Given the description of an element on the screen output the (x, y) to click on. 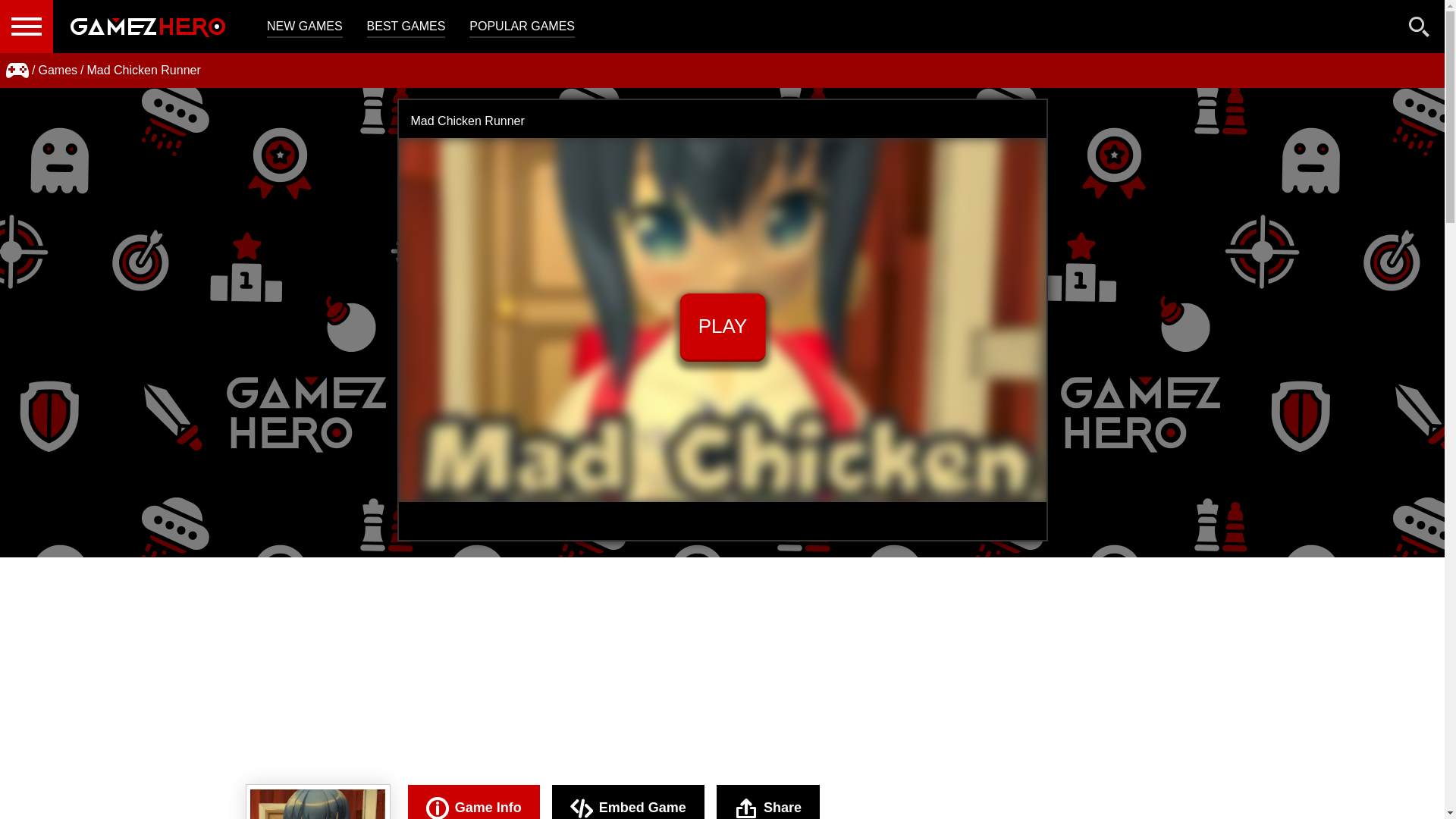
New Games (304, 27)
Gamezhero.com - Free Online Games. Play Free Games Online. (147, 26)
NEW GAMES (304, 27)
Gamezhero.com - Free Online Games. Play Free Games Online. (147, 26)
BEST GAMES (405, 27)
Best Games (405, 27)
POPULAR GAMES (521, 27)
Popular Games (521, 27)
